Given the description of an element on the screen output the (x, y) to click on. 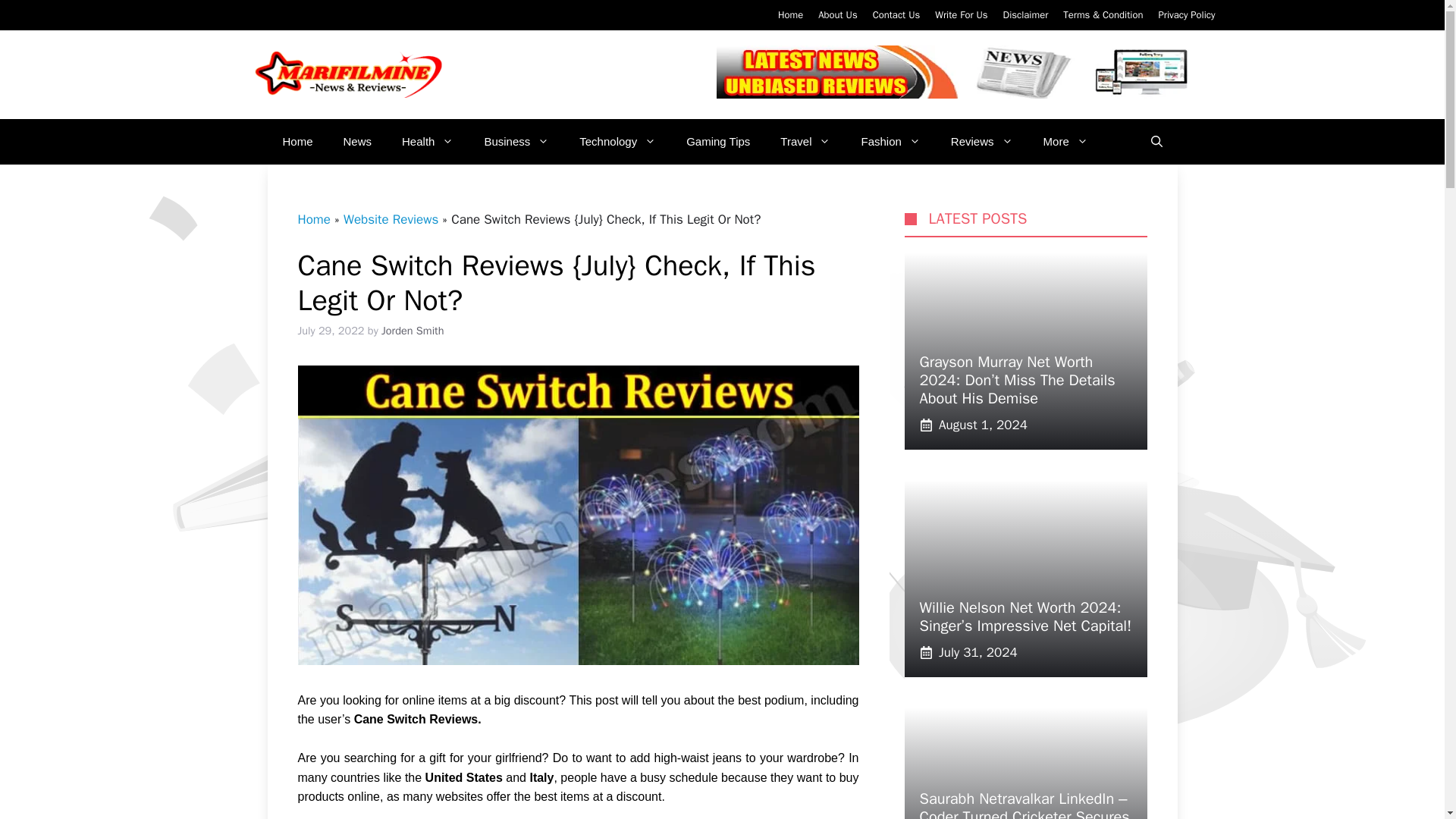
Privacy Policy (1185, 14)
Fashion (889, 141)
Business (516, 141)
Technology (617, 141)
About Us (837, 14)
Reviews (981, 141)
Contact Us (896, 14)
News (358, 141)
Home (790, 14)
Write For Us (960, 14)
Health (427, 141)
Travel (805, 141)
Home (296, 141)
Disclaimer (1025, 14)
View all posts by Jorden Smith (412, 330)
